Given the description of an element on the screen output the (x, y) to click on. 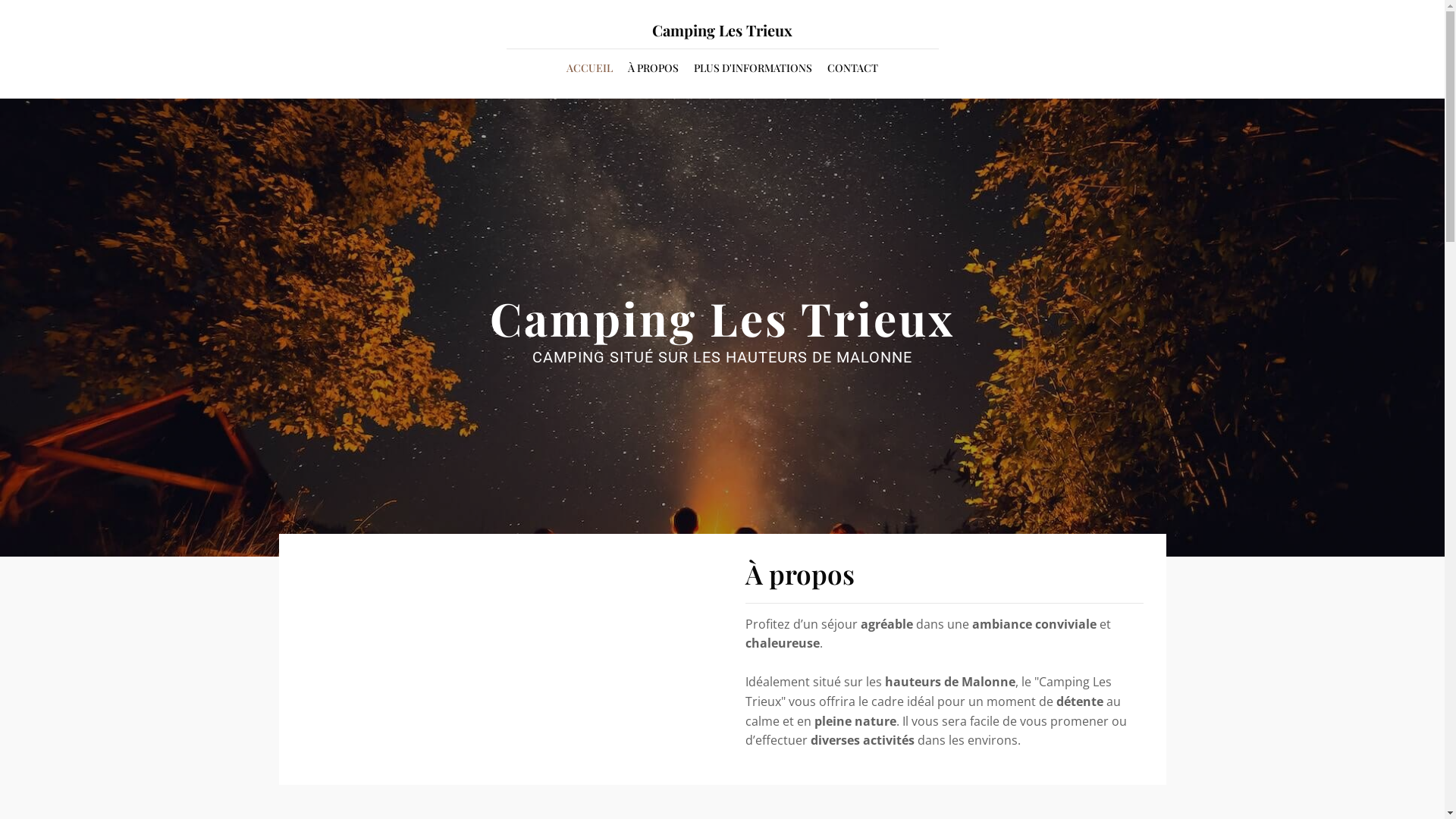
CONTACT Element type: text (852, 68)
ACCUEIL Element type: text (589, 68)
PLUS D'INFORMATIONS Element type: text (752, 68)
